Given the description of an element on the screen output the (x, y) to click on. 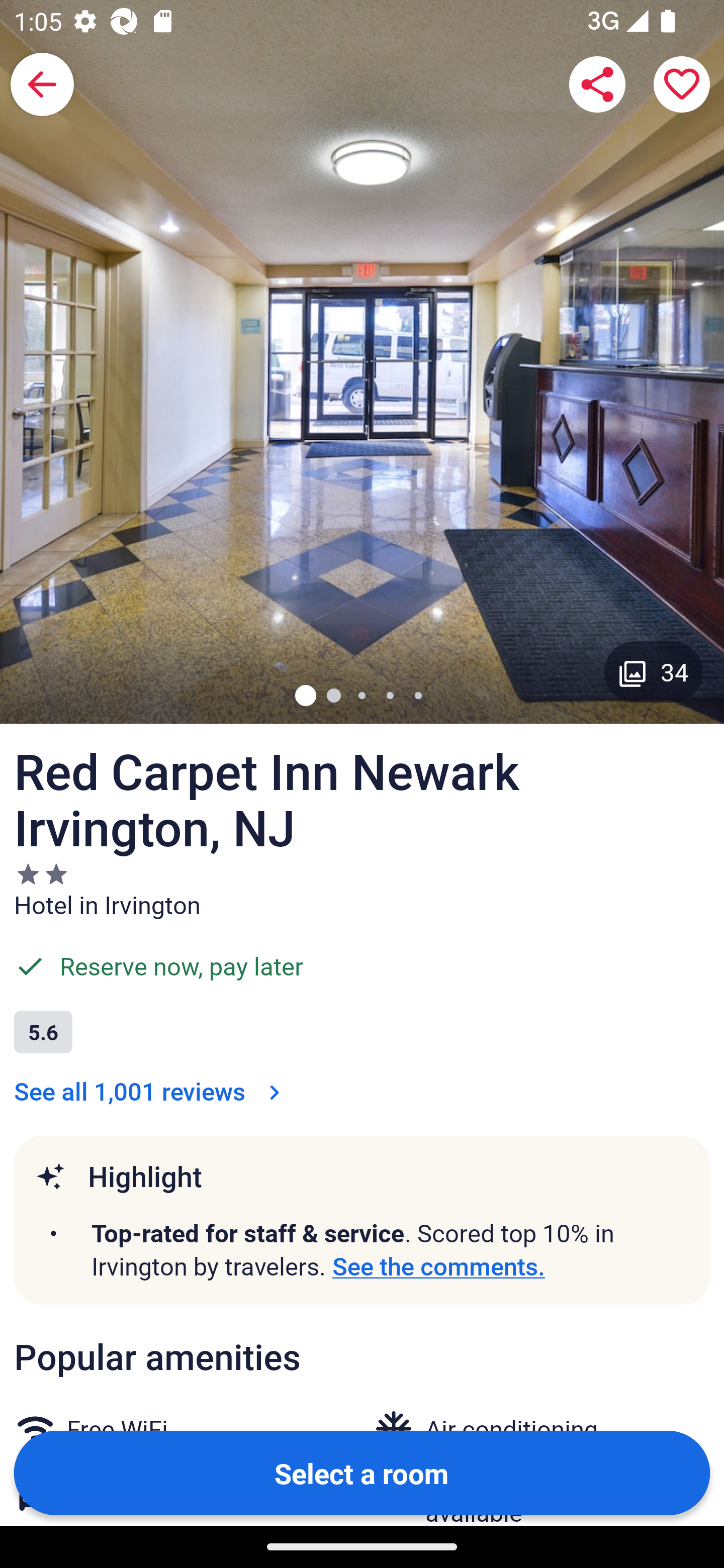
Back (42, 84)
Save property to a trip (681, 84)
Share Red Carpet Inn Newark Irvington, NJ (597, 84)
Gallery button with 34 images (653, 671)
See all 1,001 reviews See all 1,001 reviews Link (150, 1090)
Select a room Button Select a room (361, 1472)
